Given the description of an element on the screen output the (x, y) to click on. 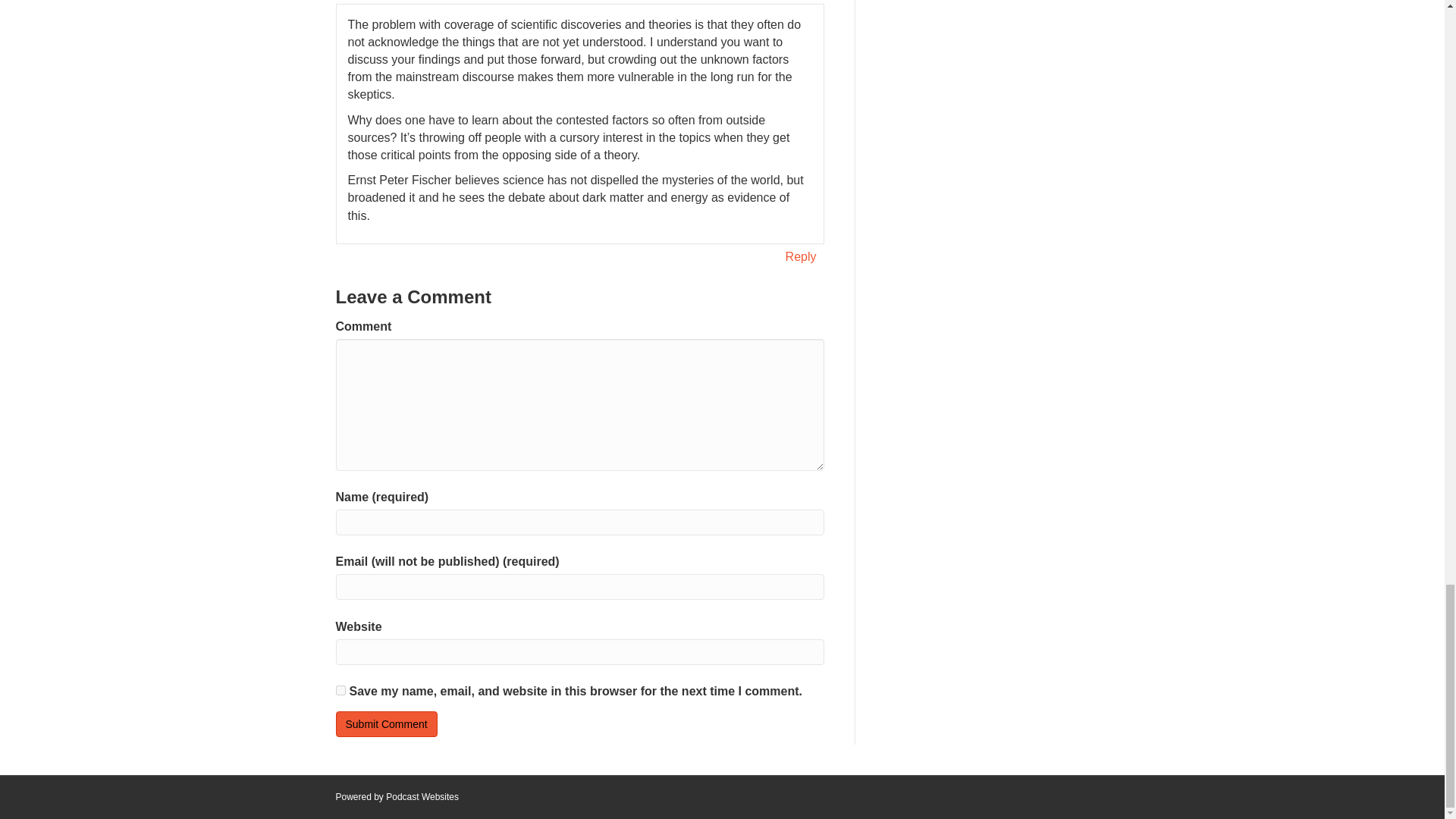
Reply (801, 256)
Submit Comment (385, 724)
Submit Comment (385, 724)
yes (339, 690)
